Given the description of an element on the screen output the (x, y) to click on. 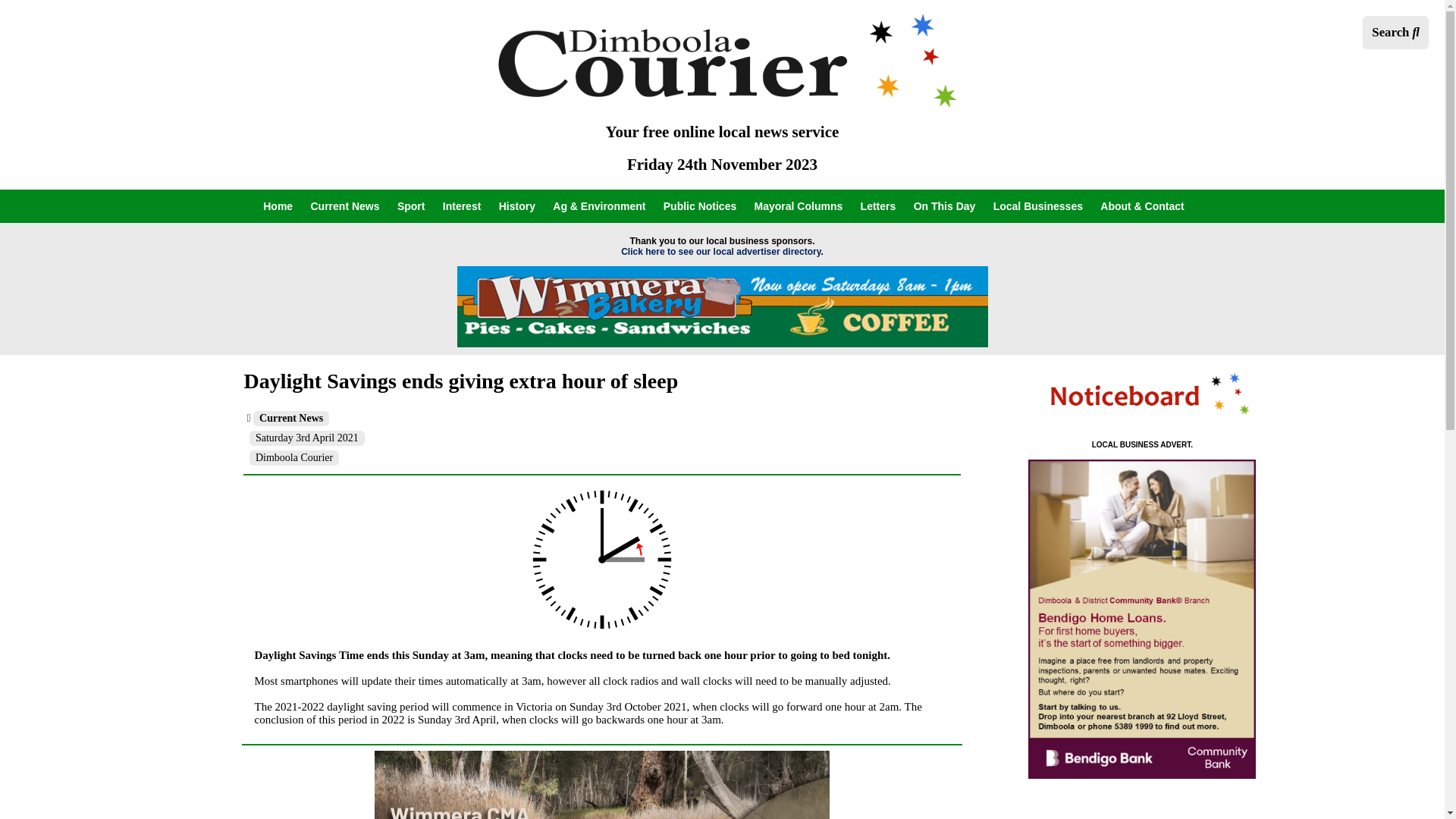
Current News Element type: text (345, 205)
On This Day Element type: text (944, 205)
Thank you to our local business sponsors. Element type: text (721, 240)
Home Element type: text (277, 205)
Interest Element type: text (461, 205)
History Element type: text (516, 205)
Mayoral Columns Element type: text (798, 205)
Letters Element type: text (878, 205)
Public Notices Element type: text (699, 205)
Click here to see our local advertiser directory Element type: text (720, 251)
Ag & Environment Element type: text (598, 205)
Local Businesses Element type: text (1038, 205)
About & Contact Element type: text (1141, 205)
Current News Element type: text (291, 417)
Sport Element type: text (411, 205)
Search Element type: text (1395, 32)
